Given the description of an element on the screen output the (x, y) to click on. 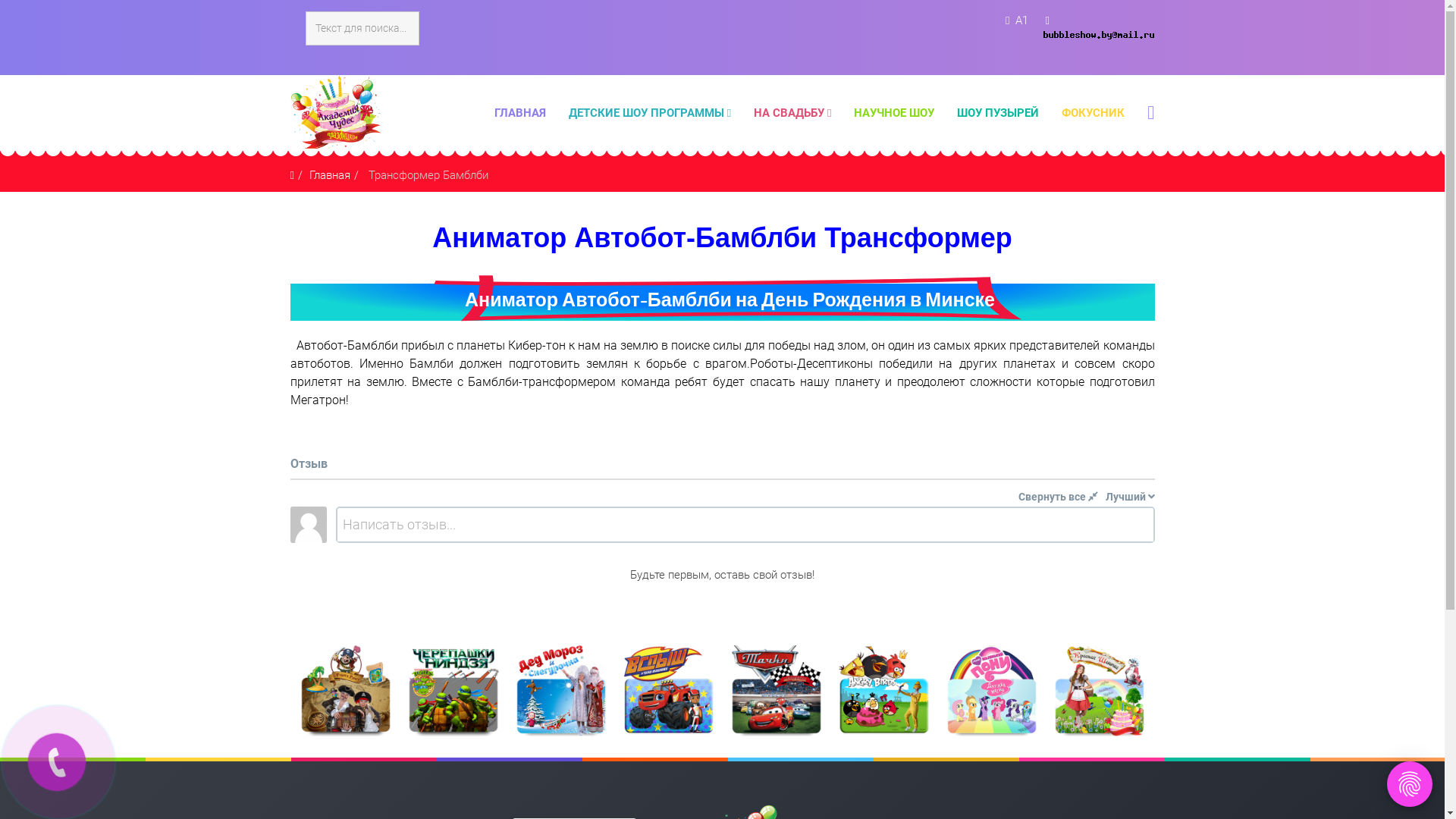
A1 Element type: text (1020, 20)
